Given the description of an element on the screen output the (x, y) to click on. 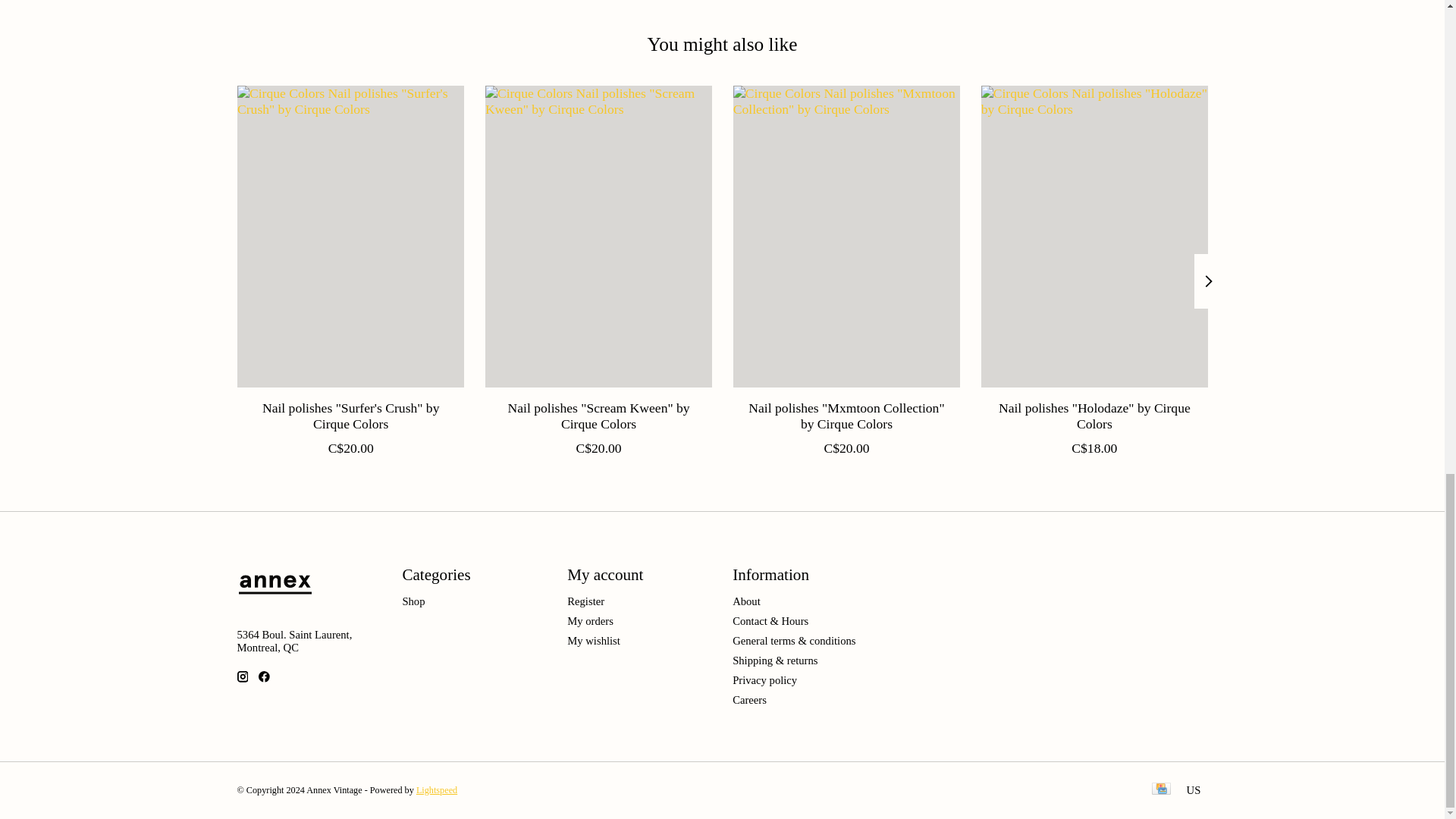
Register (585, 601)
About (746, 601)
My orders (589, 621)
My wishlist (593, 640)
